Given the description of an element on the screen output the (x, y) to click on. 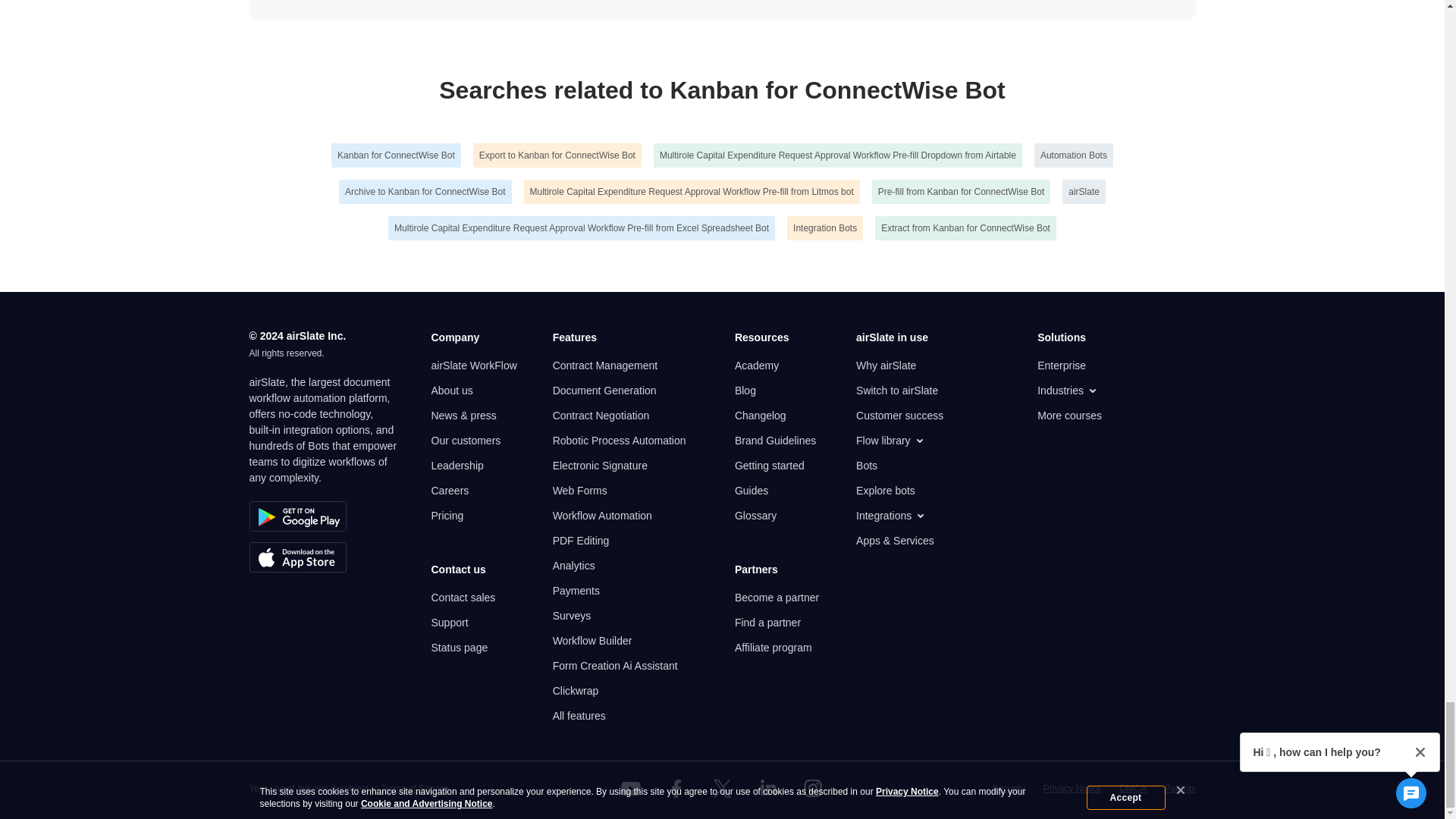
Instagram (812, 788)
YouTube (630, 788)
Twitter (721, 788)
Facebook (676, 788)
LinkedIn (767, 788)
